Given the description of an element on the screen output the (x, y) to click on. 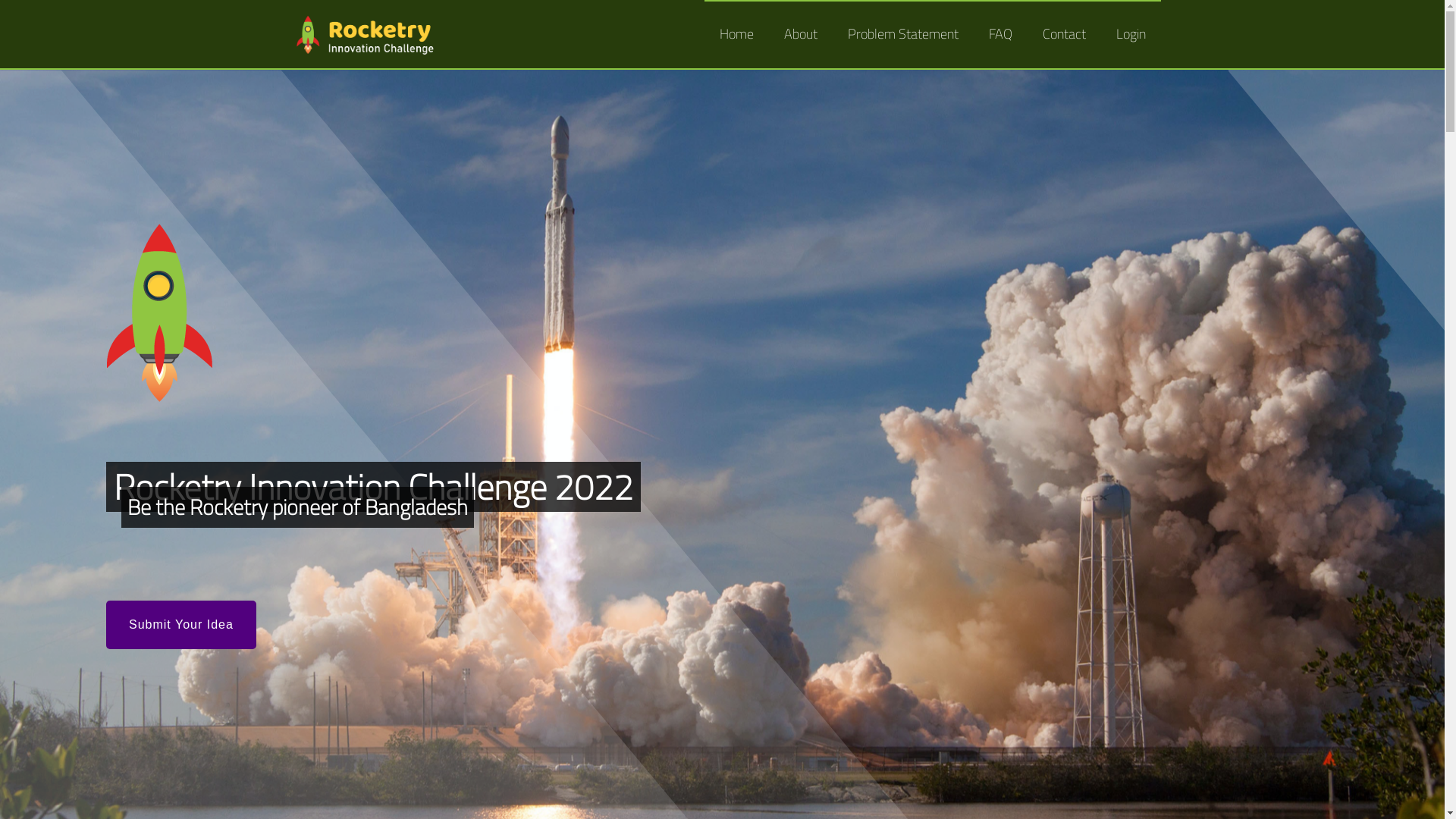
Login Element type: text (1131, 34)
About Element type: text (800, 34)
Home Element type: text (735, 34)
FAQ Element type: text (1000, 34)
Submit Your Idea Element type: text (181, 624)
Contact Element type: text (1063, 34)
Problem Statement Element type: text (902, 34)
